Given the description of an element on the screen output the (x, y) to click on. 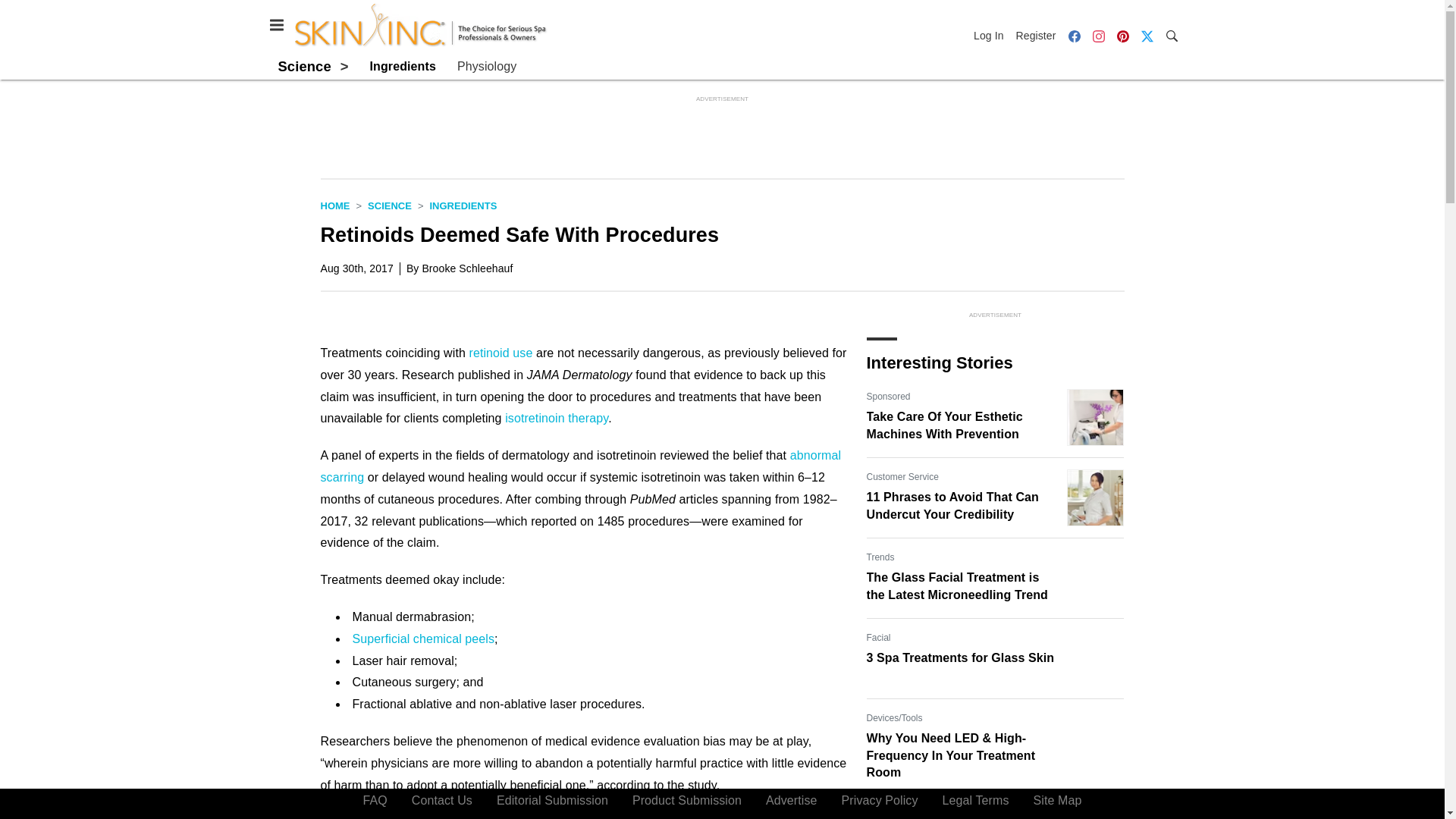
Sponsored (888, 811)
Twitter X icon (1146, 35)
Physiology (486, 66)
Facebook icon (1073, 35)
Search (1170, 34)
Register (1036, 35)
Science (390, 205)
SCIENCE (390, 205)
HOME (334, 205)
Ingredients (462, 205)
